Given the description of an element on the screen output the (x, y) to click on. 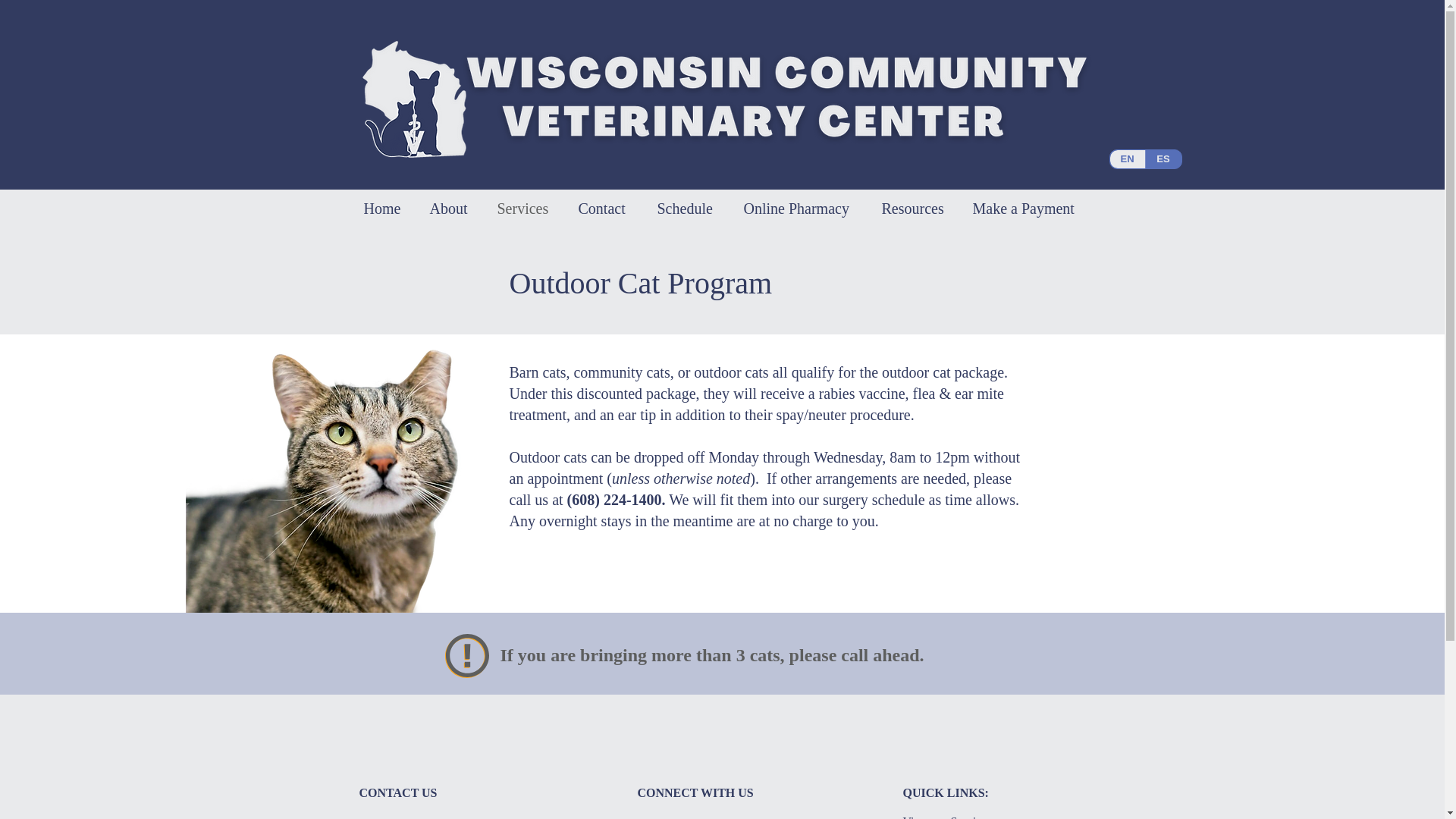
View our Services (946, 816)
ES (1162, 158)
About (452, 208)
EN (1127, 158)
Home (384, 208)
Resources (915, 208)
Online Pharmacy (801, 208)
Facebook (660, 818)
Make a Payment (1028, 208)
Schedule (689, 208)
